Given the description of an element on the screen output the (x, y) to click on. 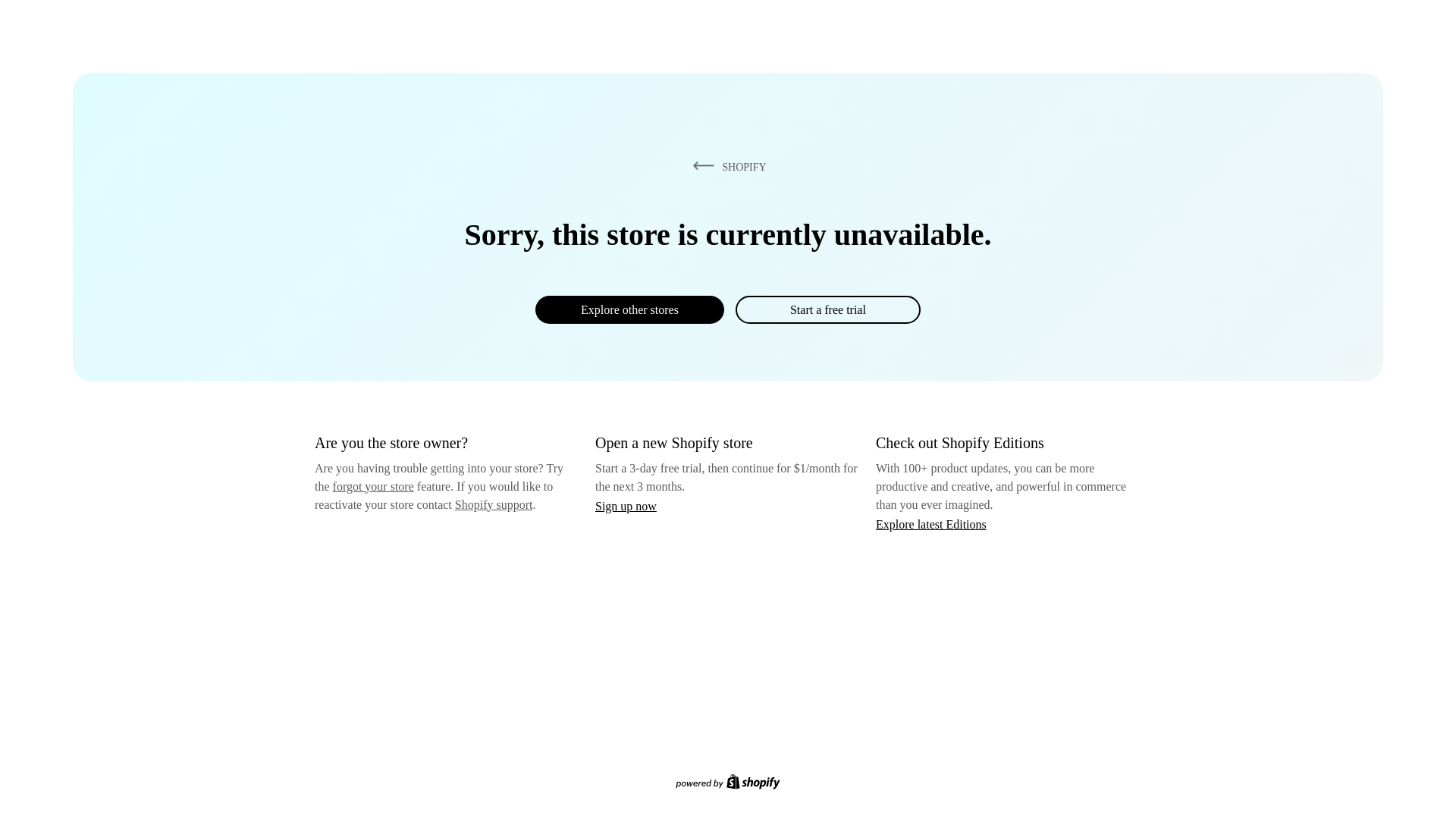
Shopify support (493, 504)
forgot your store (373, 486)
Explore latest Editions (931, 523)
Start a free trial (827, 309)
SHOPIFY (726, 166)
Sign up now (625, 505)
Explore other stores (629, 309)
